Given the description of an element on the screen output the (x, y) to click on. 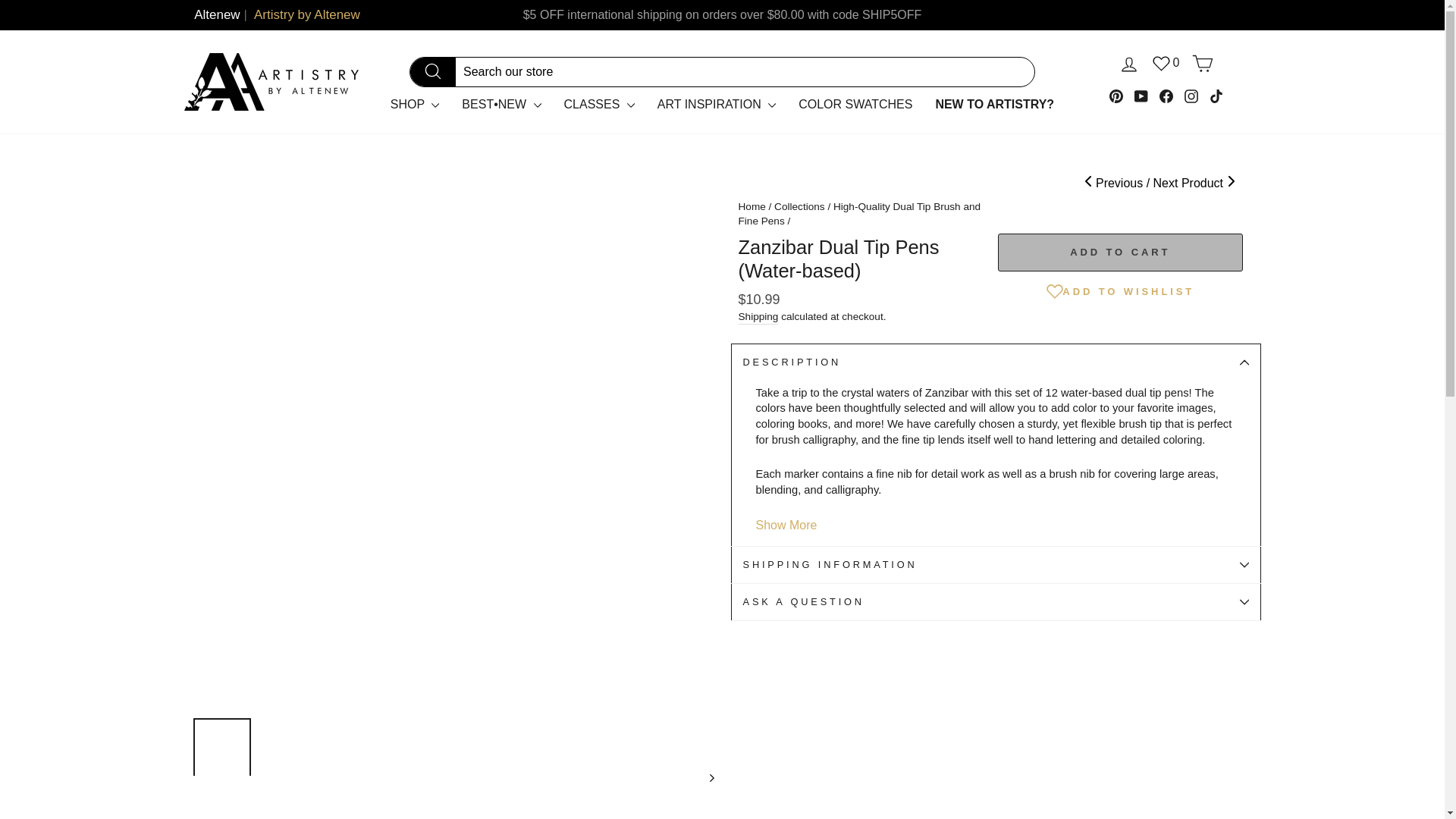
Account (1128, 63)
Back to the frontpage (751, 206)
Artistry by Altenew (306, 14)
Cart (1202, 63)
Next product (1193, 182)
Previous product (1117, 182)
